Given the description of an element on the screen output the (x, y) to click on. 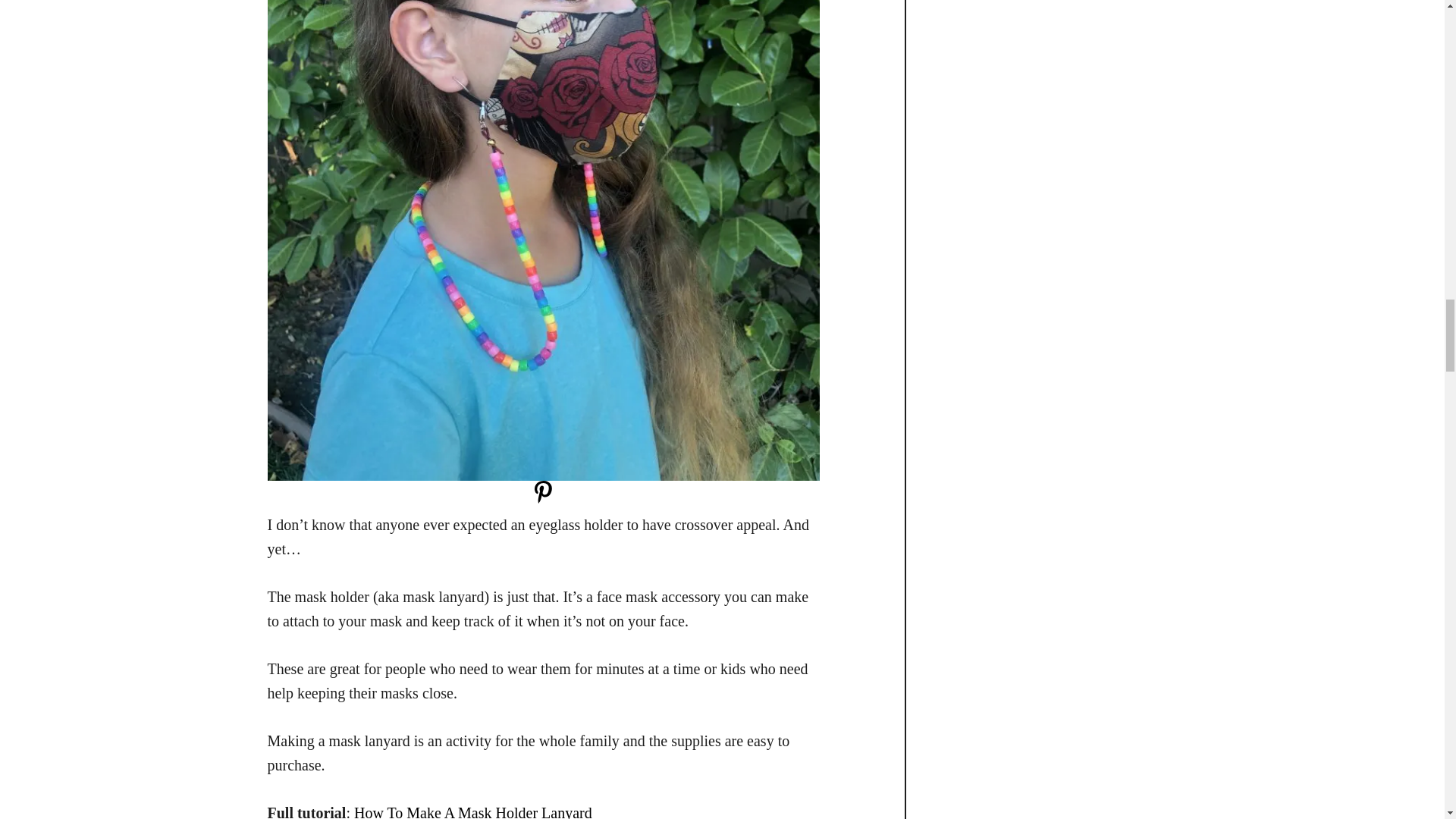
How To Make A Mask Holder Lanyard (472, 811)
Save (542, 499)
